Given the description of an element on the screen output the (x, y) to click on. 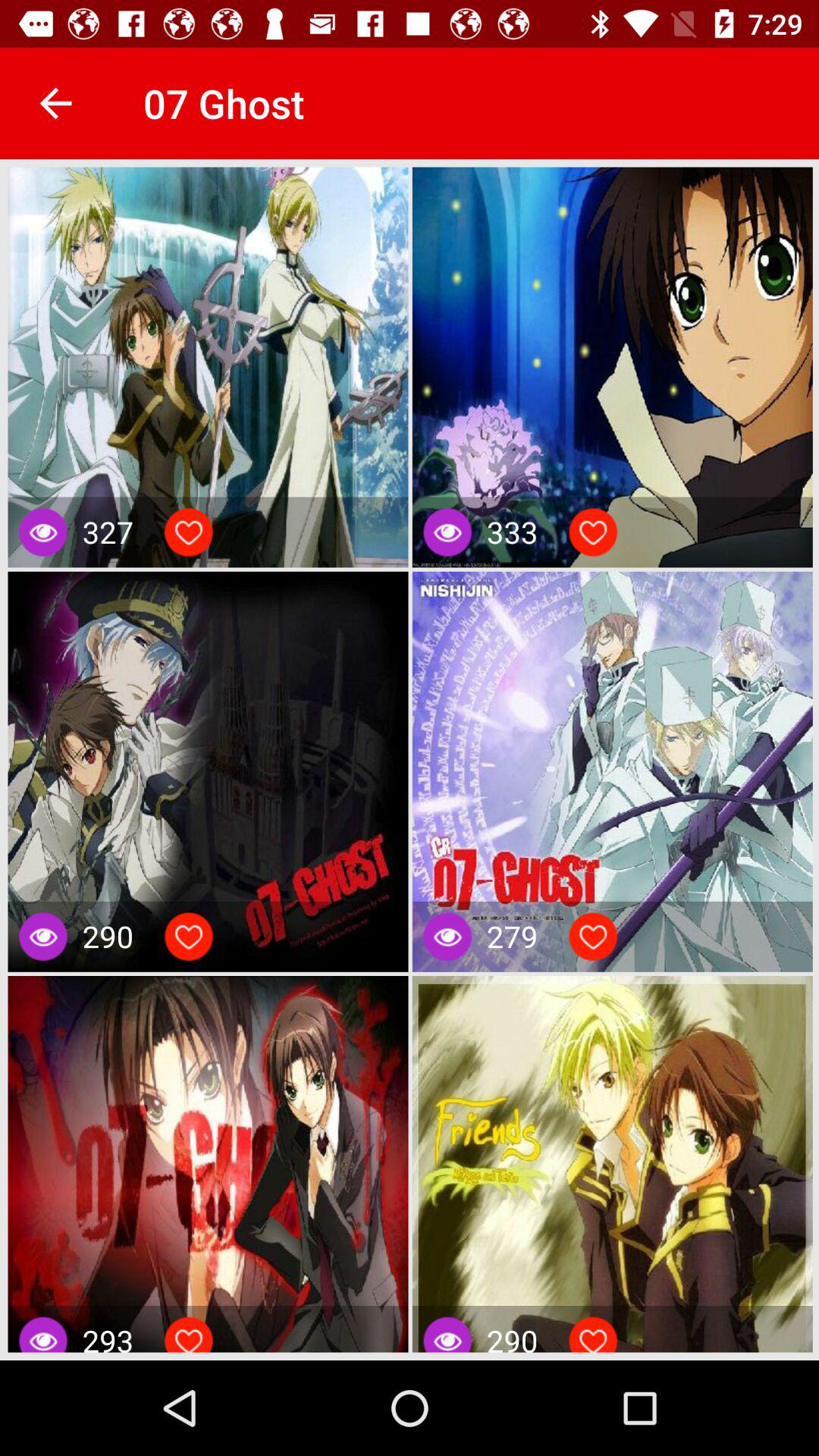
choose the icon next to 07 ghost (55, 103)
